Given the description of an element on the screen output the (x, y) to click on. 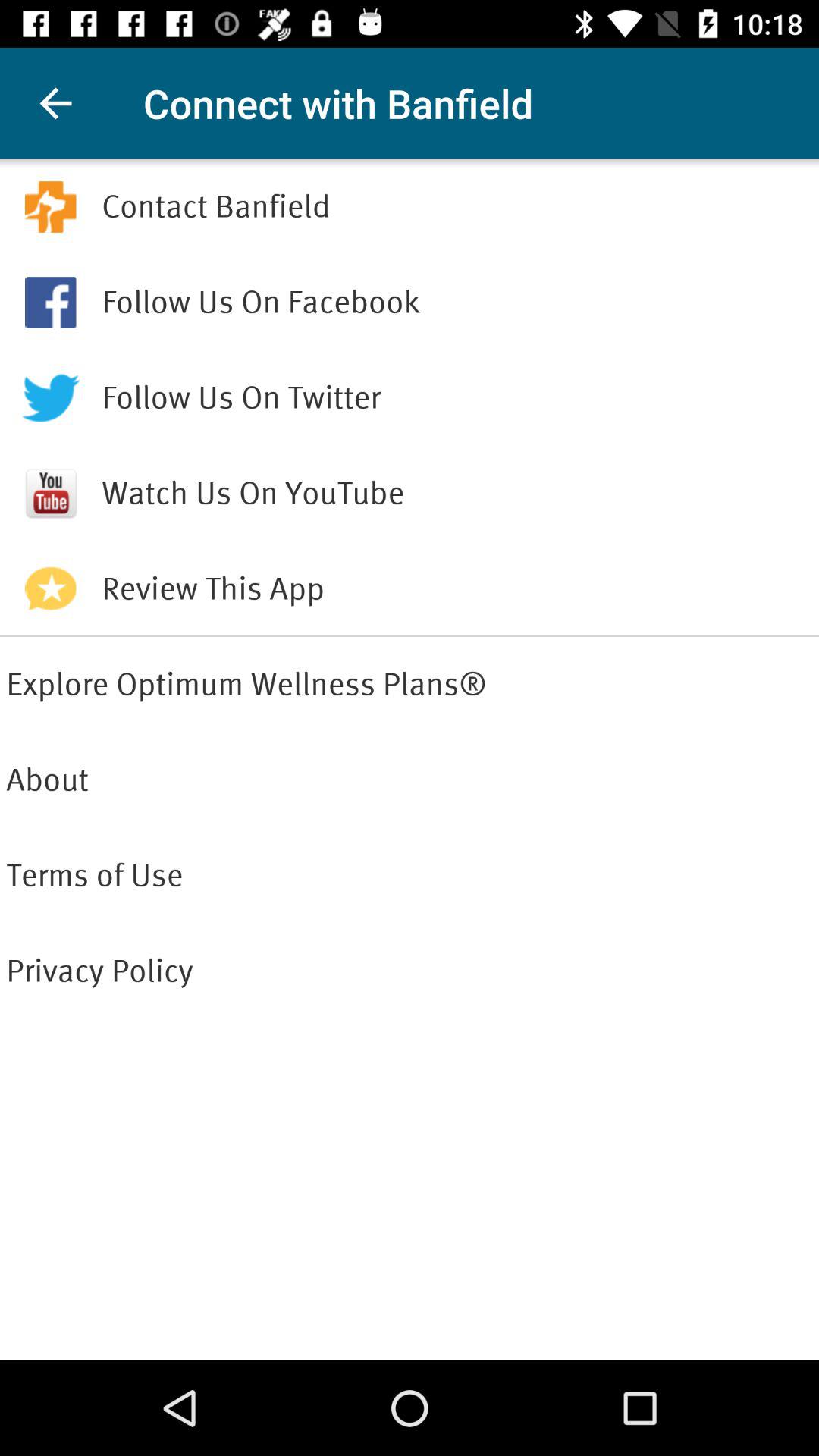
swipe until about item (409, 780)
